Given the description of an element on the screen output the (x, y) to click on. 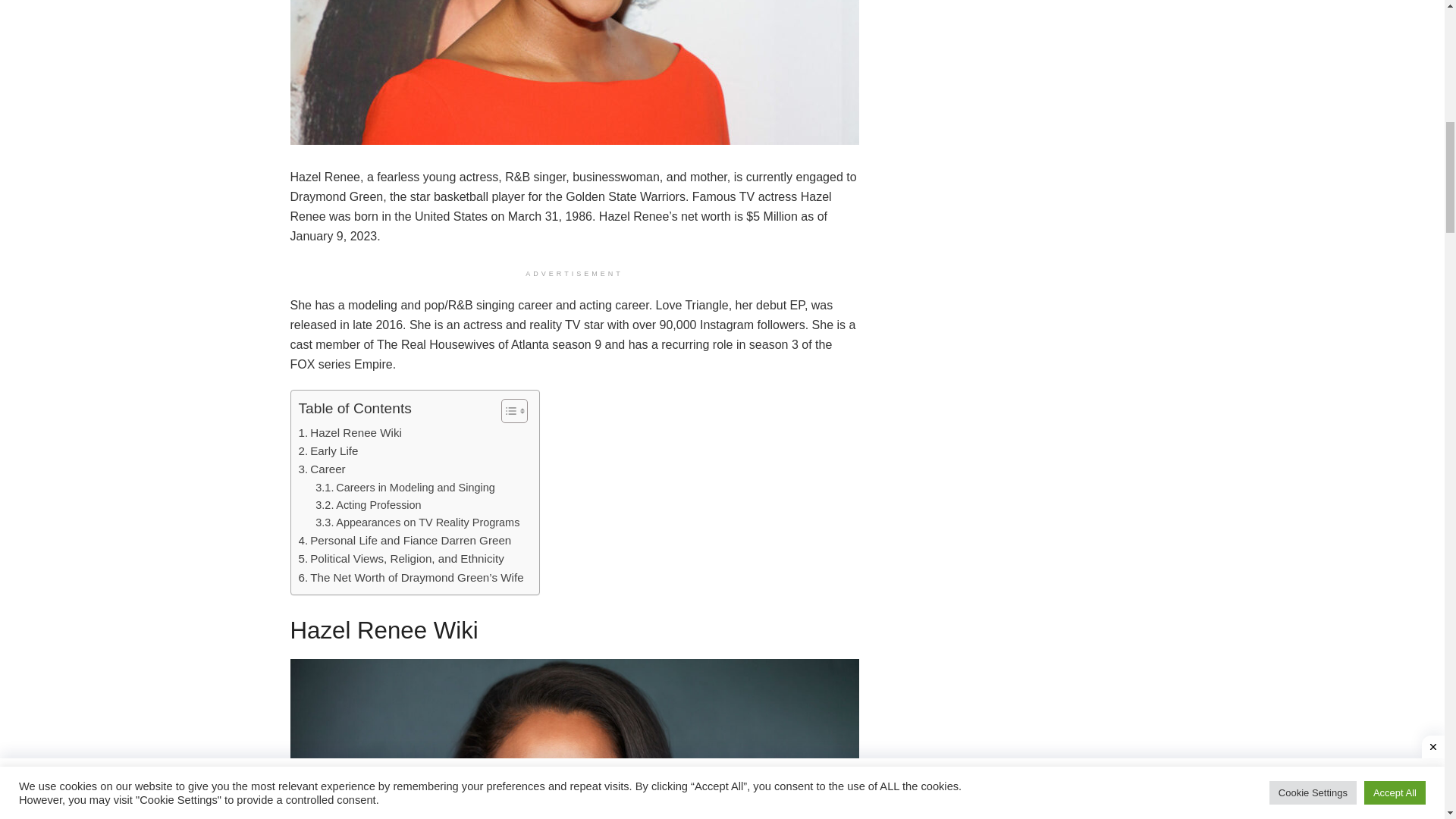
Personal Life and Fiance Darren Green (405, 540)
Early Life (328, 451)
Career (322, 469)
Careers in Modeling and Singing (405, 487)
Hazel Renee Wiki (349, 433)
Hazel Renee Wiki (349, 433)
Careers in Modeling and Singing (405, 487)
Appearances on TV Reality Programs (417, 522)
Political Views, Religion, and Ethnicity (400, 558)
Career (322, 469)
Early Life (328, 451)
Appearances on TV Reality Programs (417, 522)
Acting Profession (367, 505)
Acting Profession (367, 505)
